Given the description of an element on the screen output the (x, y) to click on. 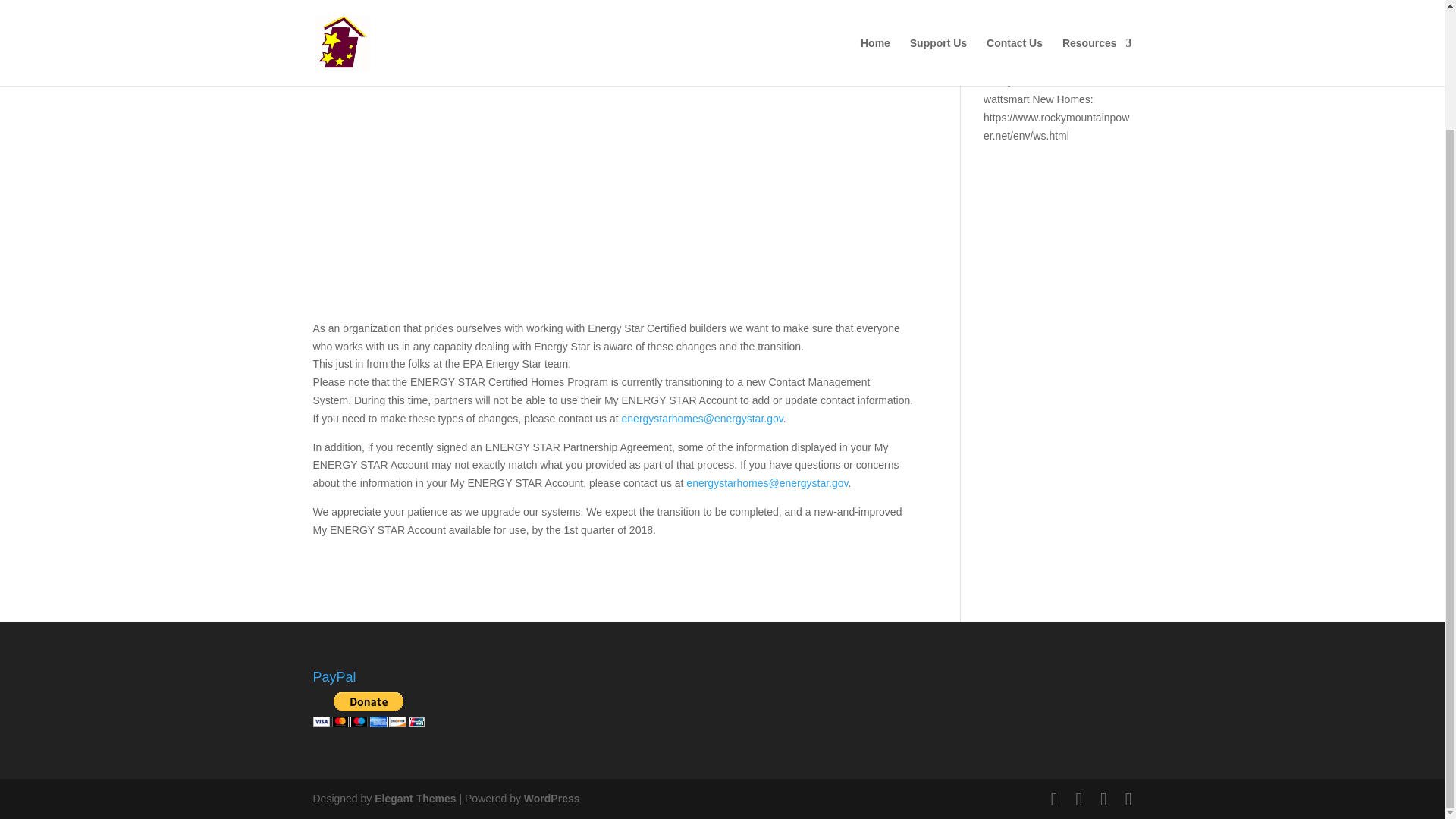
Posts by UtahEnergy Conservation (387, 4)
Recent Posts (558, 4)
UtahEnergy Conservation (387, 4)
Premium WordPress Themes (414, 798)
WordPress (551, 798)
Elegant Themes (414, 798)
